Given the description of an element on the screen output the (x, y) to click on. 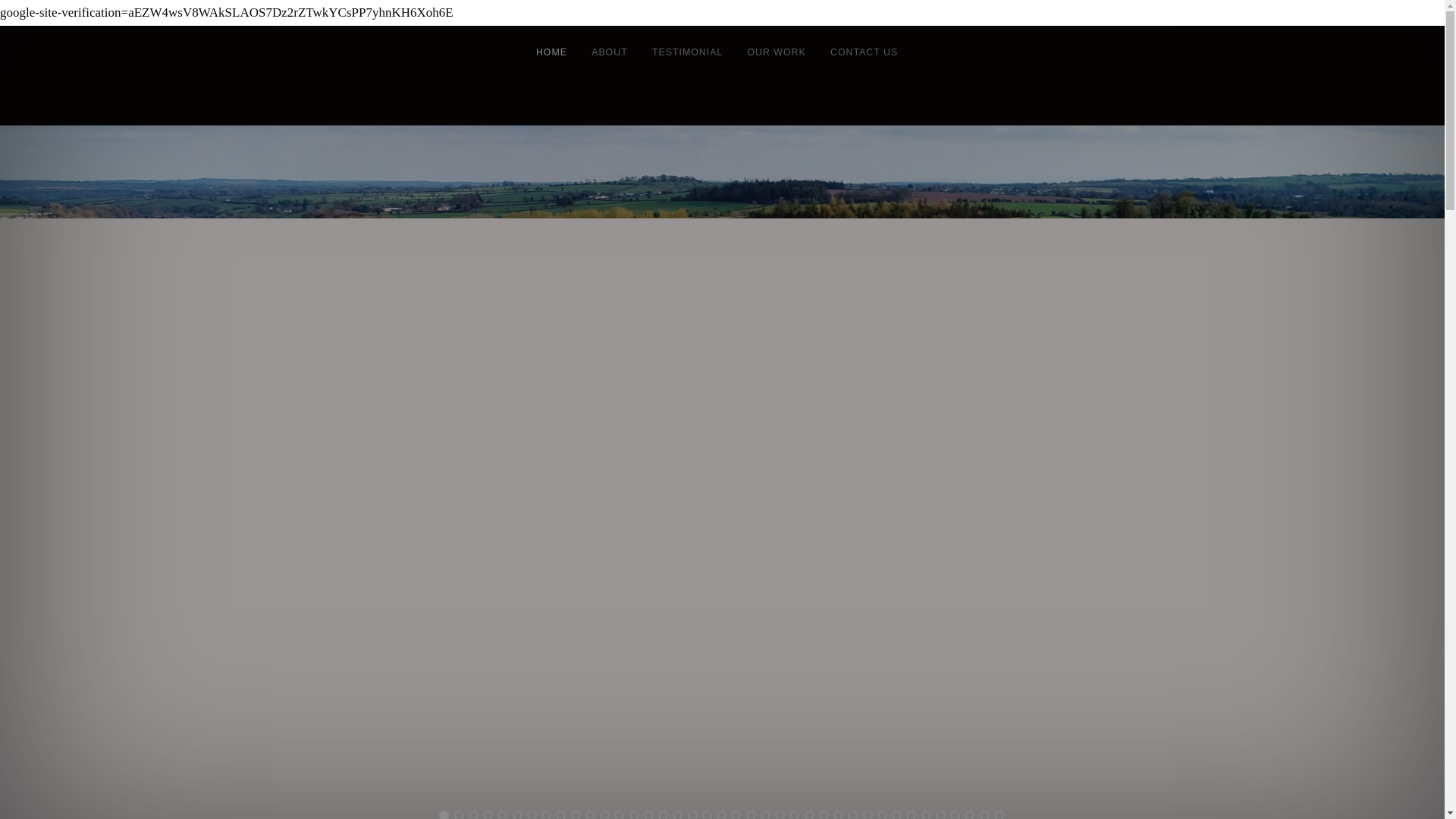
23 (765, 814)
12 (604, 814)
39 (999, 814)
11 (590, 814)
2 (457, 814)
3 (473, 814)
21 (735, 814)
29 (852, 814)
9 (561, 814)
10 (574, 814)
20 (721, 814)
22 (750, 814)
36 (954, 814)
27 (823, 814)
5 (501, 814)
